Given the description of an element on the screen output the (x, y) to click on. 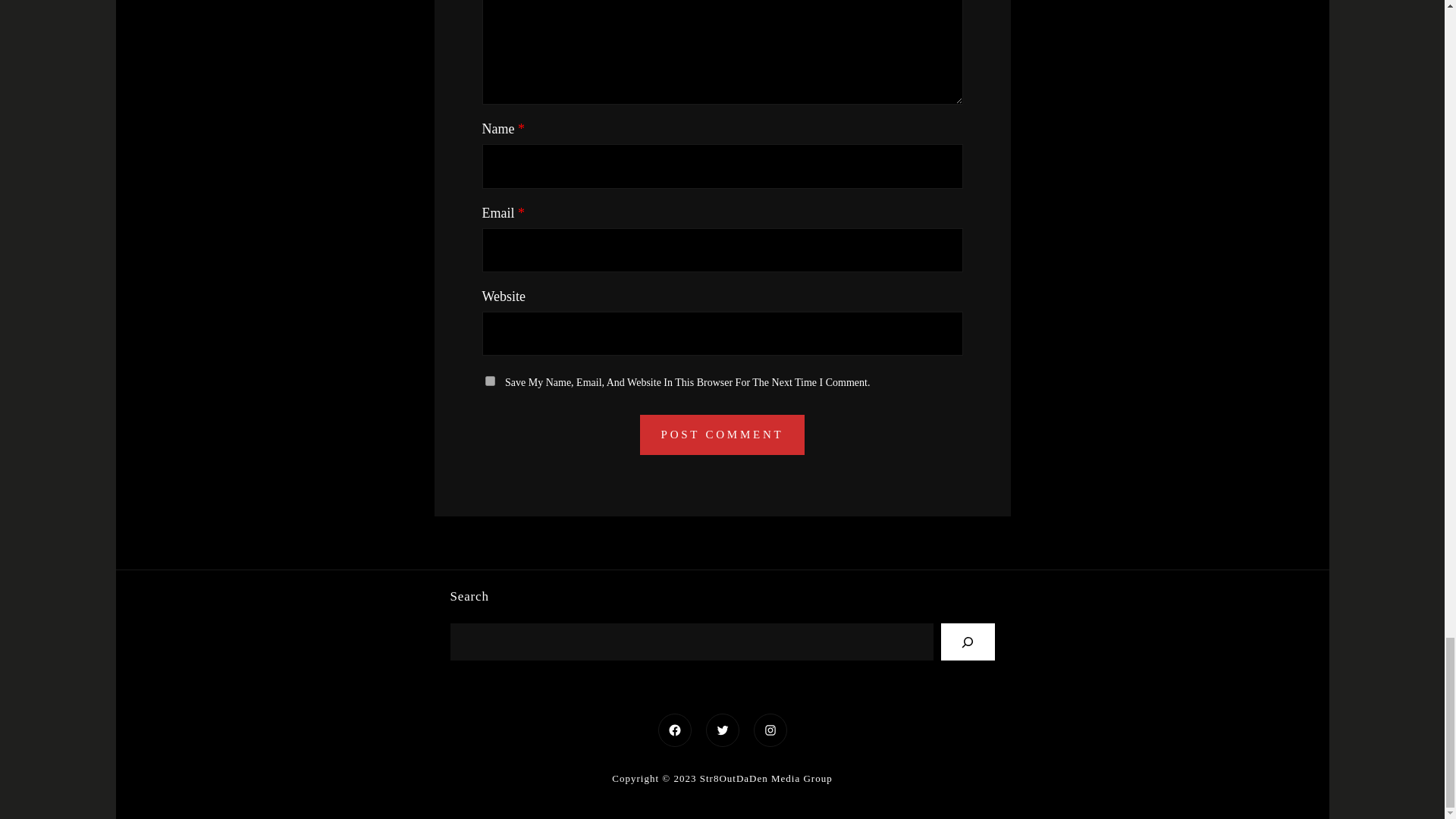
Post Comment (722, 434)
Facebook (673, 730)
Twitter (722, 730)
Instagram (770, 730)
Post Comment (722, 434)
yes (489, 380)
